Given the description of an element on the screen output the (x, y) to click on. 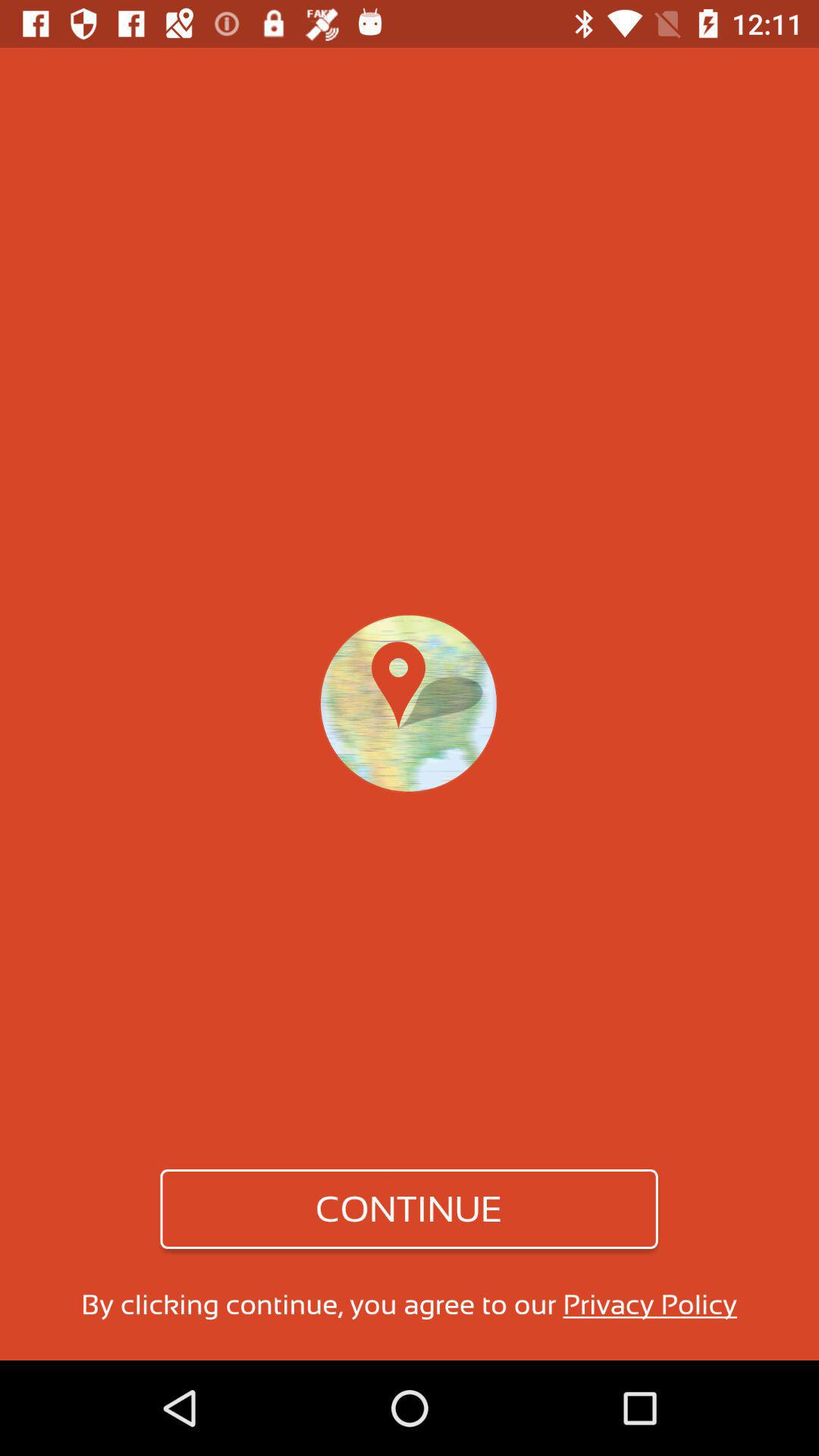
swipe to by clicking continue (409, 1304)
